Given the description of an element on the screen output the (x, y) to click on. 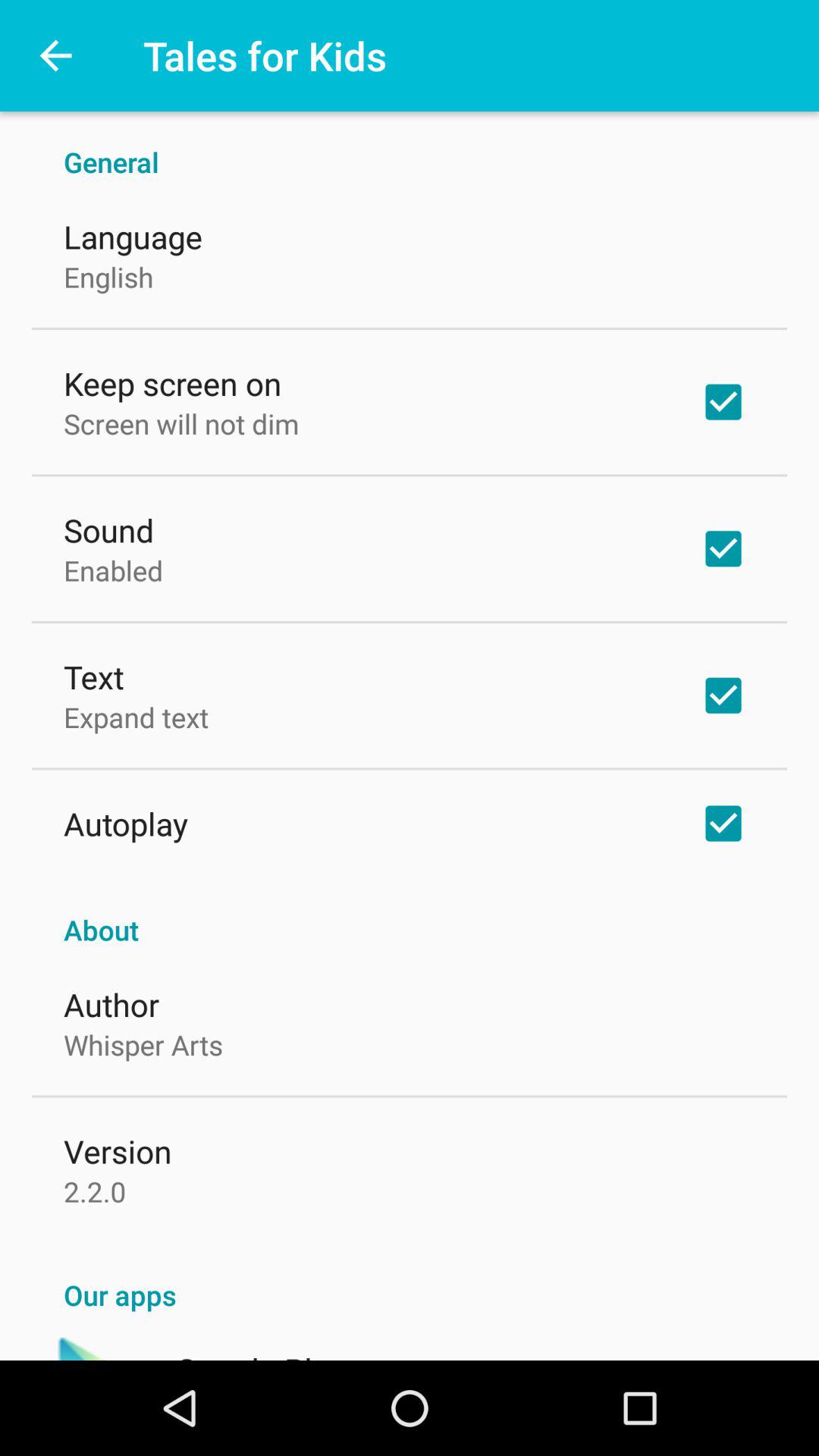
scroll until the 2.2.0 item (94, 1191)
